Given the description of an element on the screen output the (x, y) to click on. 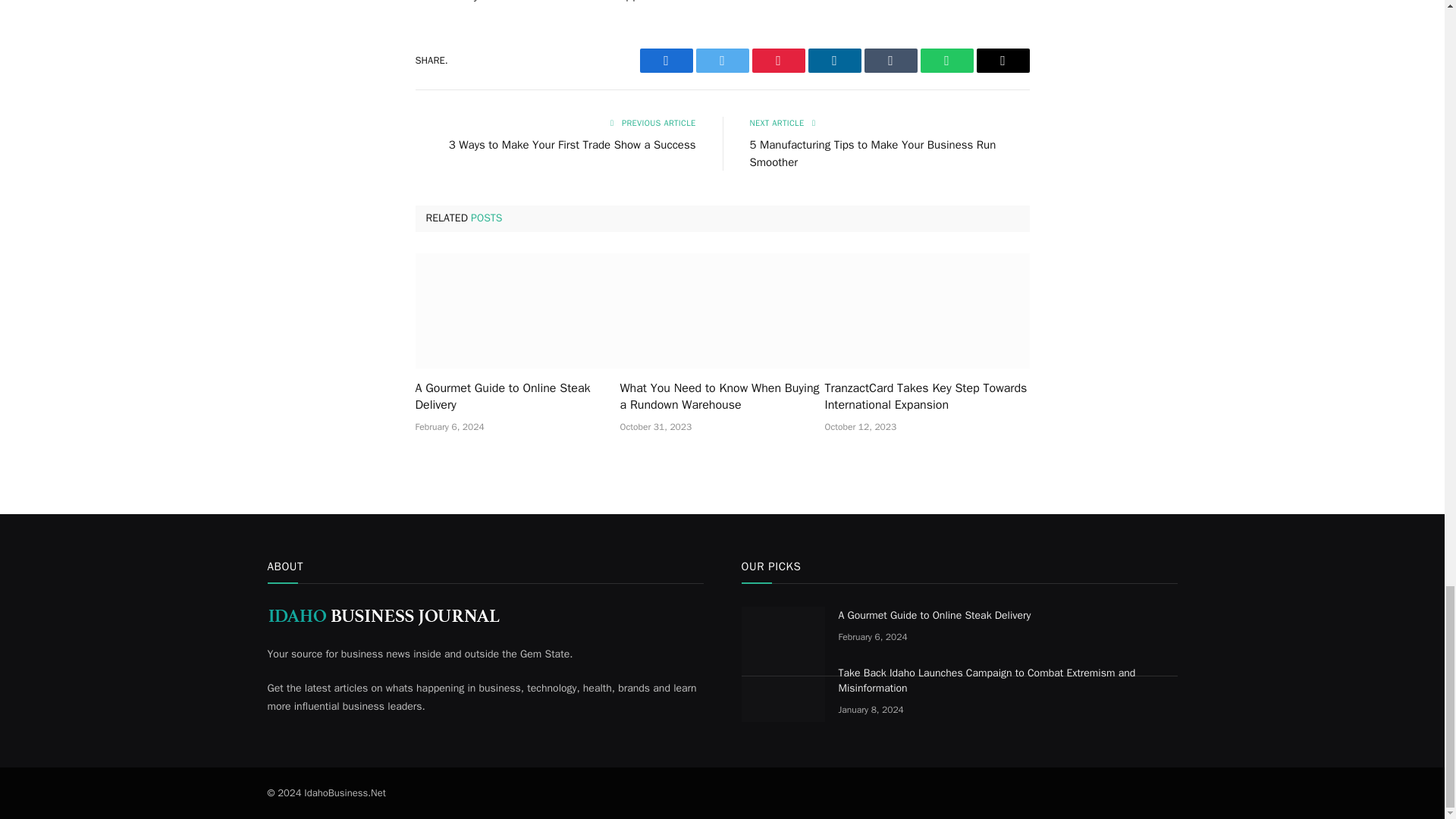
Share on Facebook (666, 60)
